Given the description of an element on the screen output the (x, y) to click on. 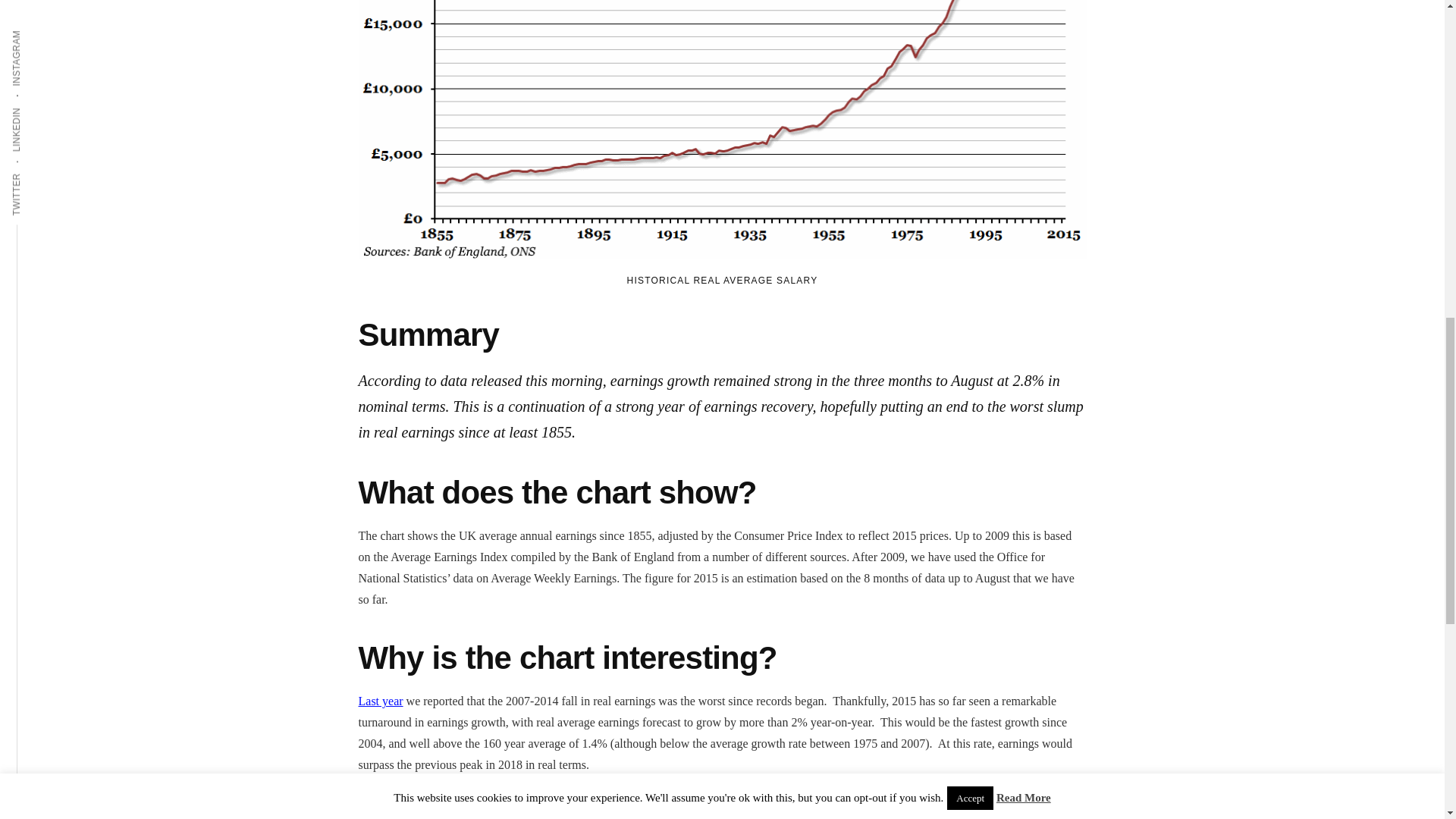
Last year (380, 700)
